Given the description of an element on the screen output the (x, y) to click on. 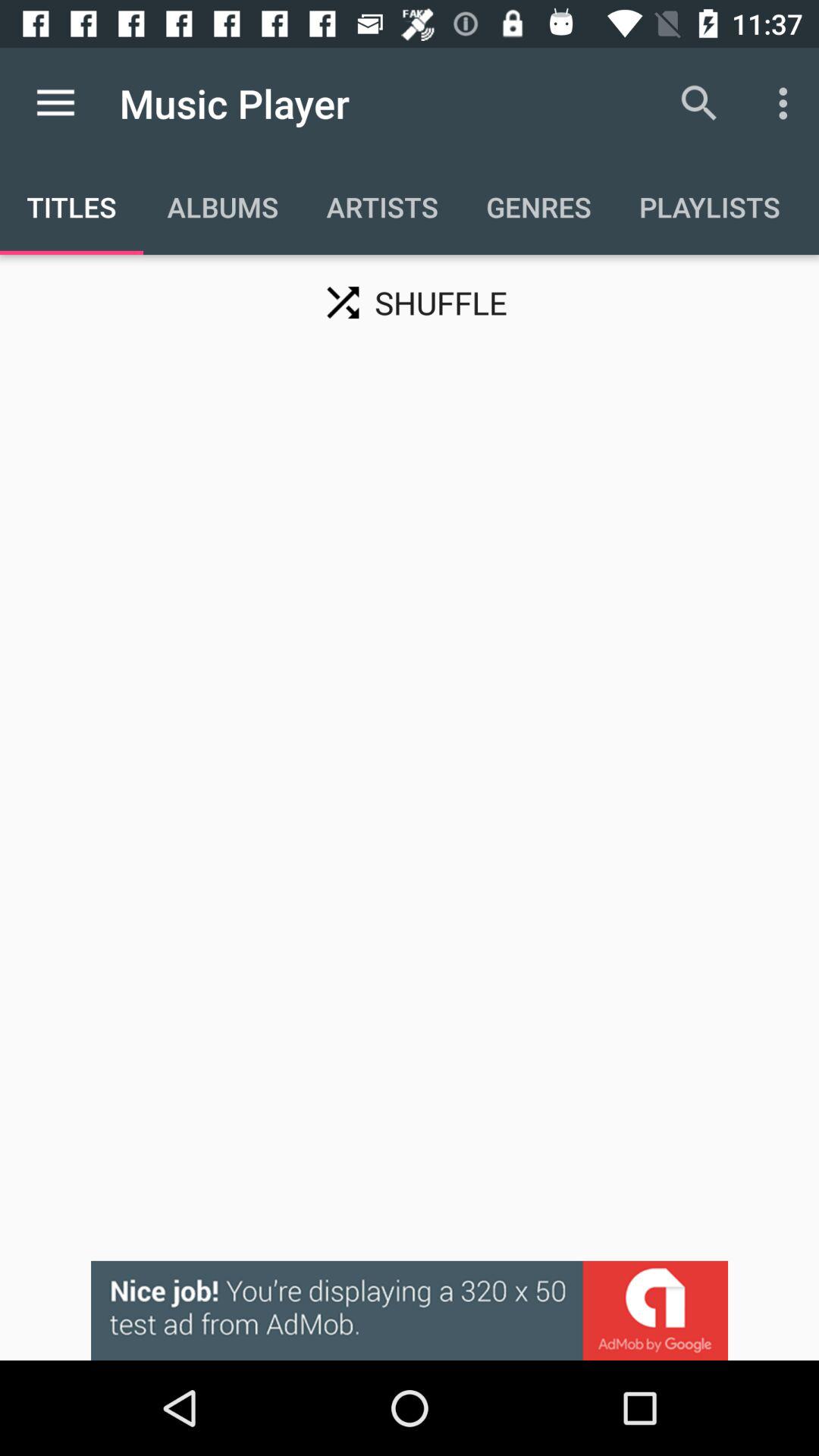
go to menu (55, 103)
